Given the description of an element on the screen output the (x, y) to click on. 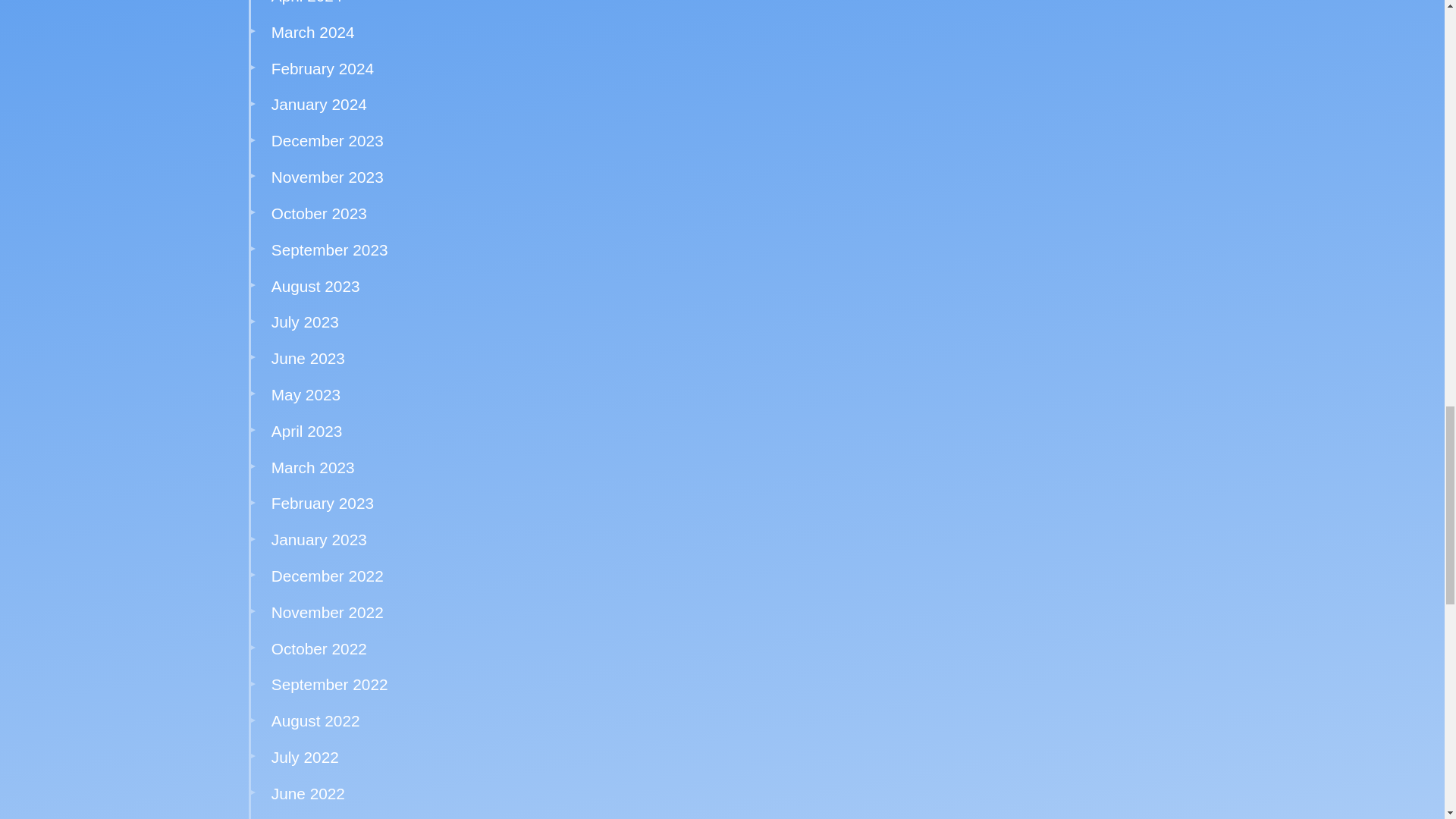
September 2022 (329, 683)
January 2024 (318, 104)
May 2023 (305, 394)
October 2023 (318, 212)
February 2024 (322, 67)
March 2024 (312, 31)
July 2023 (304, 321)
December 2023 (327, 140)
April 2023 (306, 430)
August 2022 (314, 720)
January 2023 (318, 538)
December 2022 (327, 575)
November 2022 (327, 611)
February 2023 (322, 502)
August 2023 (314, 285)
